Given the description of an element on the screen output the (x, y) to click on. 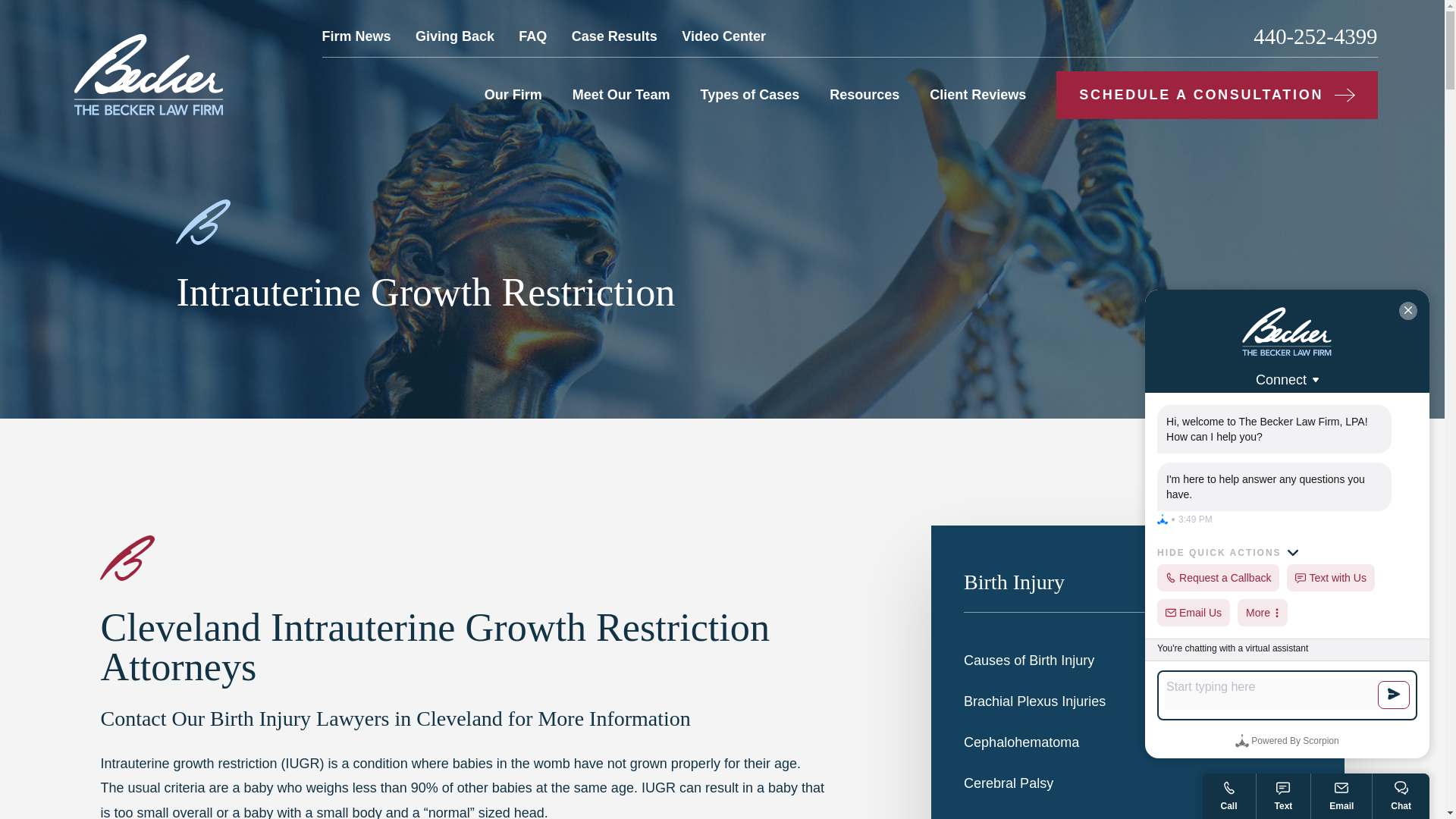
Giving Back (454, 36)
440-252-4399 (1315, 36)
Home (148, 74)
Client Reviews (978, 94)
The Becker Law Firm (148, 74)
Types of Cases (749, 94)
FAQ (532, 36)
Resources (864, 94)
Case Results (615, 36)
Our Firm (512, 94)
Firm News (355, 36)
Meet Our Team (620, 94)
Video Center (723, 36)
